Given the description of an element on the screen output the (x, y) to click on. 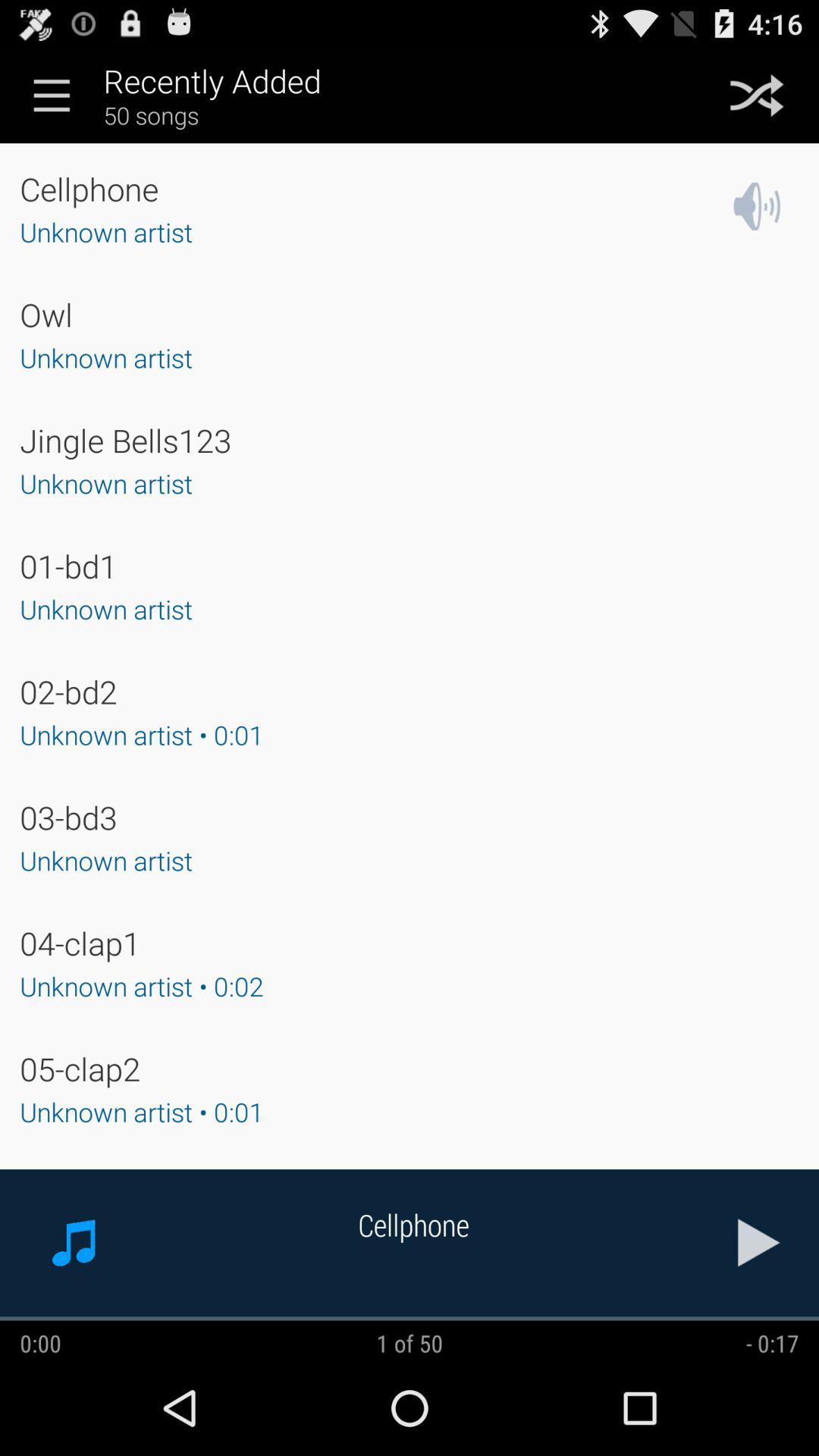
click icon below unknown artist item (79, 942)
